Given the description of an element on the screen output the (x, y) to click on. 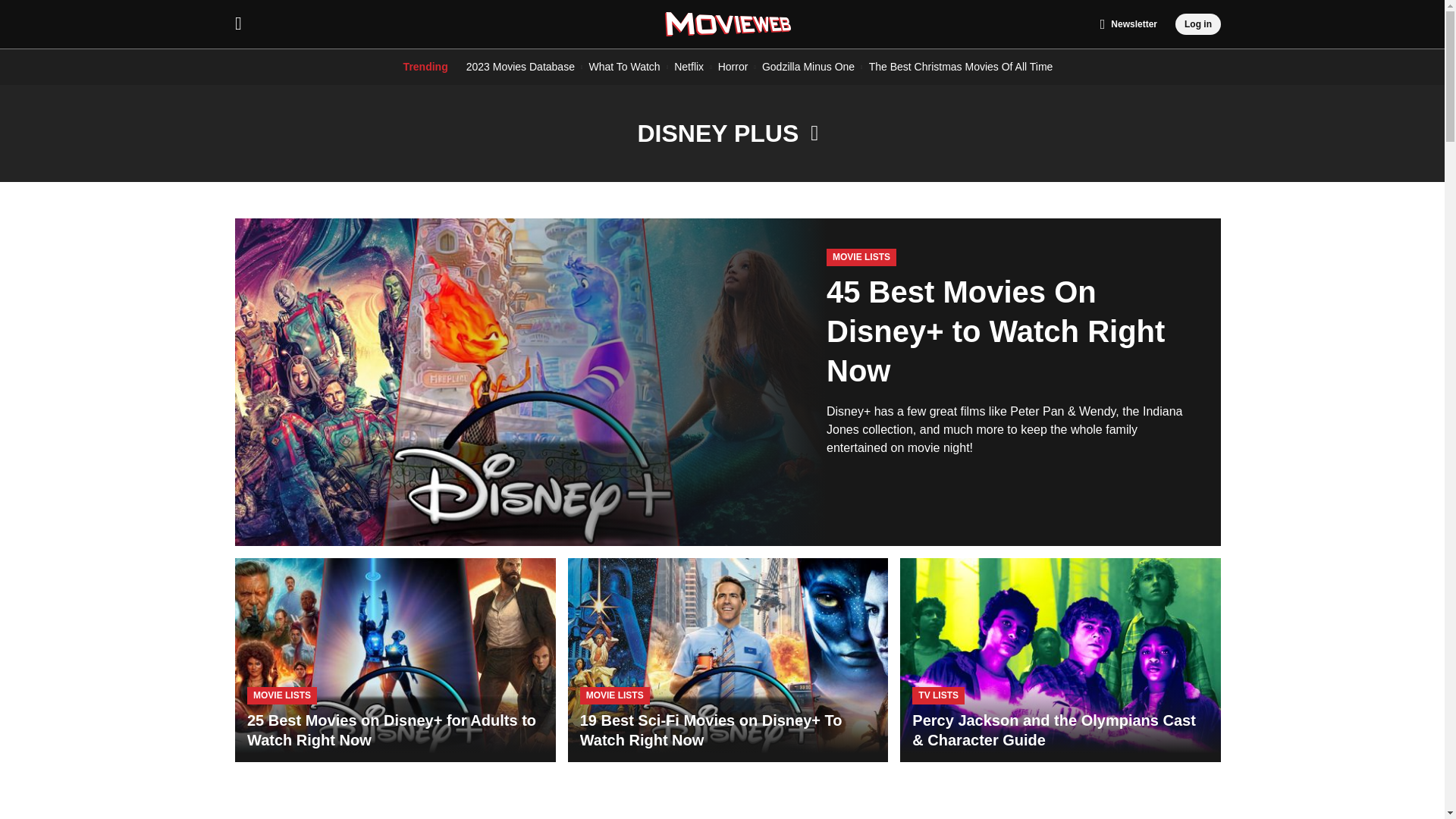
Horror (732, 66)
Netflix (688, 66)
MovieWeb (727, 24)
The Best Christmas Movies Of All Time (960, 66)
Newsletter (1128, 23)
What To Watch (623, 66)
Godzilla Minus One (807, 66)
2023 Movies Database (520, 66)
